Given the description of an element on the screen output the (x, y) to click on. 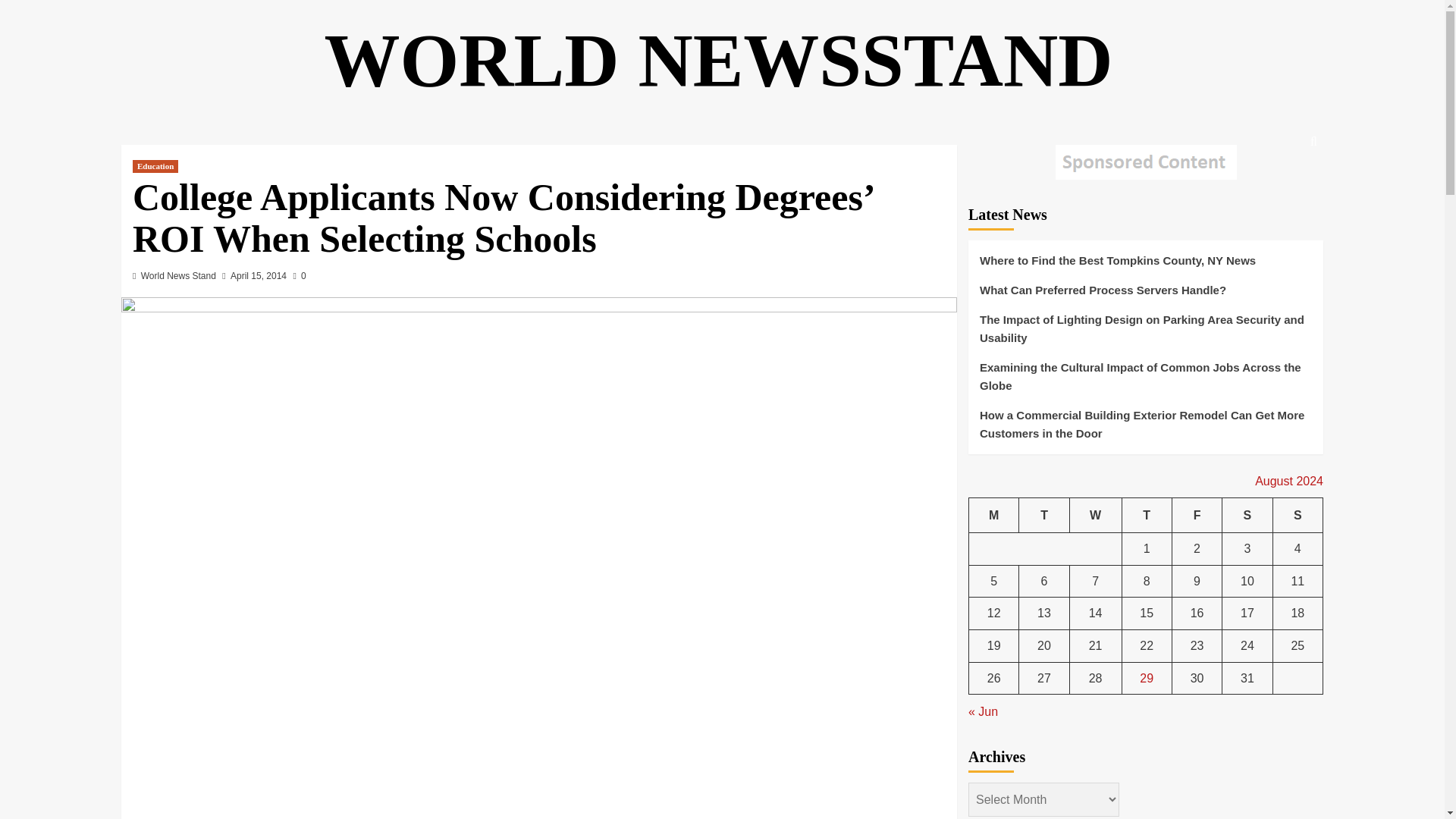
World News Stand (178, 276)
Search (1278, 188)
Saturday (1247, 515)
Friday (1196, 515)
What Can Preferred Process Servers Handle? (1145, 296)
Education (154, 165)
Thursday (1146, 515)
Where to Find the Best Tompkins County, NY News (1145, 266)
Monday (994, 515)
